Given the description of an element on the screen output the (x, y) to click on. 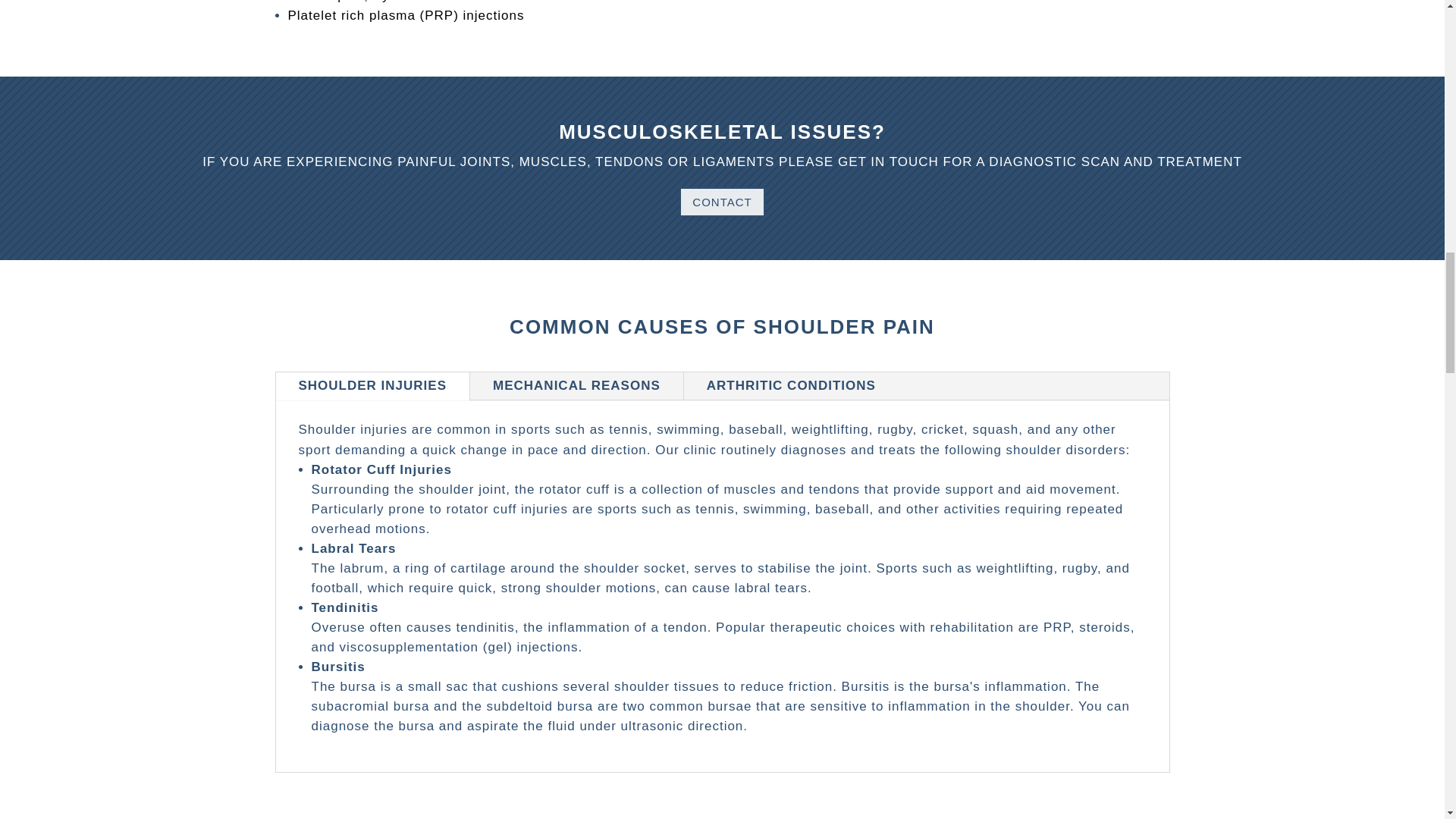
MECHANICAL REASONS (576, 386)
SHOULDER INJURIES (373, 386)
shoulder anatomy (1005, 7)
CONTACT (721, 202)
